Given the description of an element on the screen output the (x, y) to click on. 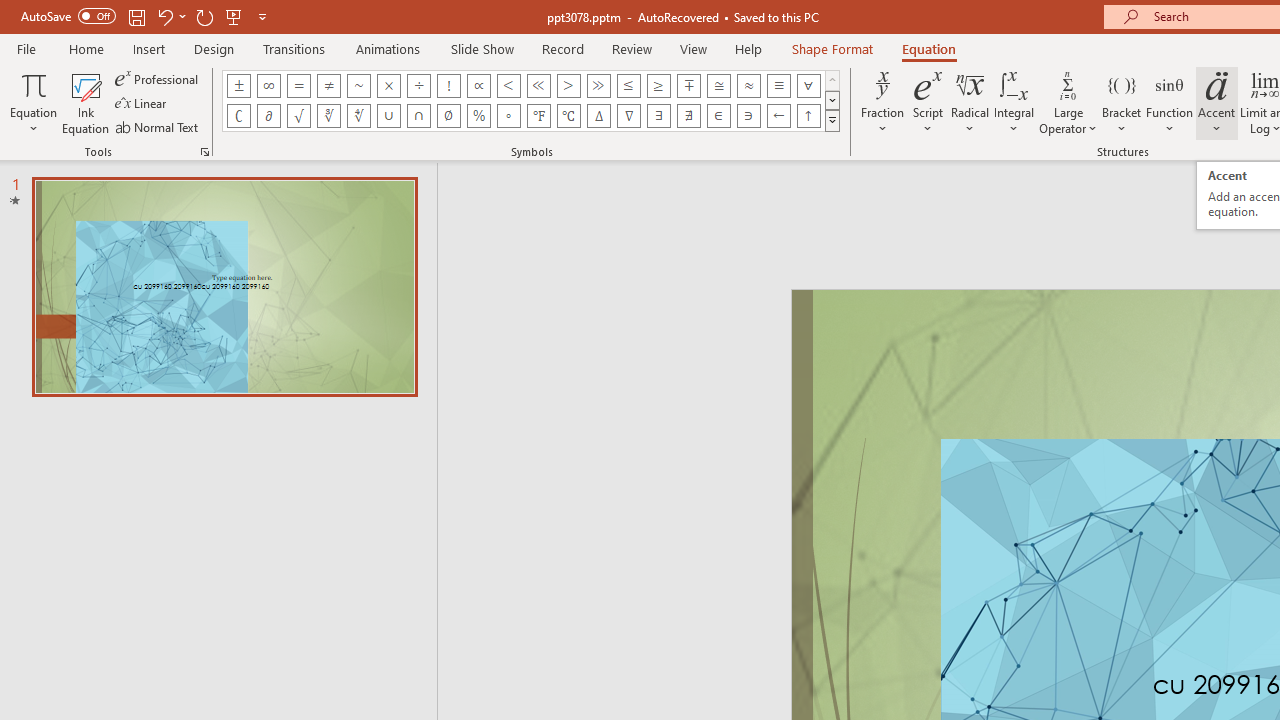
Integral (1014, 102)
Equation Options... (204, 151)
Ink Equation (86, 102)
Equation Symbol Approximately Equal To (718, 85)
Equation Symbol Plus Minus (238, 85)
Equation Symbols (832, 120)
Shape Format (832, 48)
Large Operator (1067, 102)
Equation Symbol Approximately (358, 85)
Equation Symbol Empty Set (448, 115)
